Given the description of an element on the screen output the (x, y) to click on. 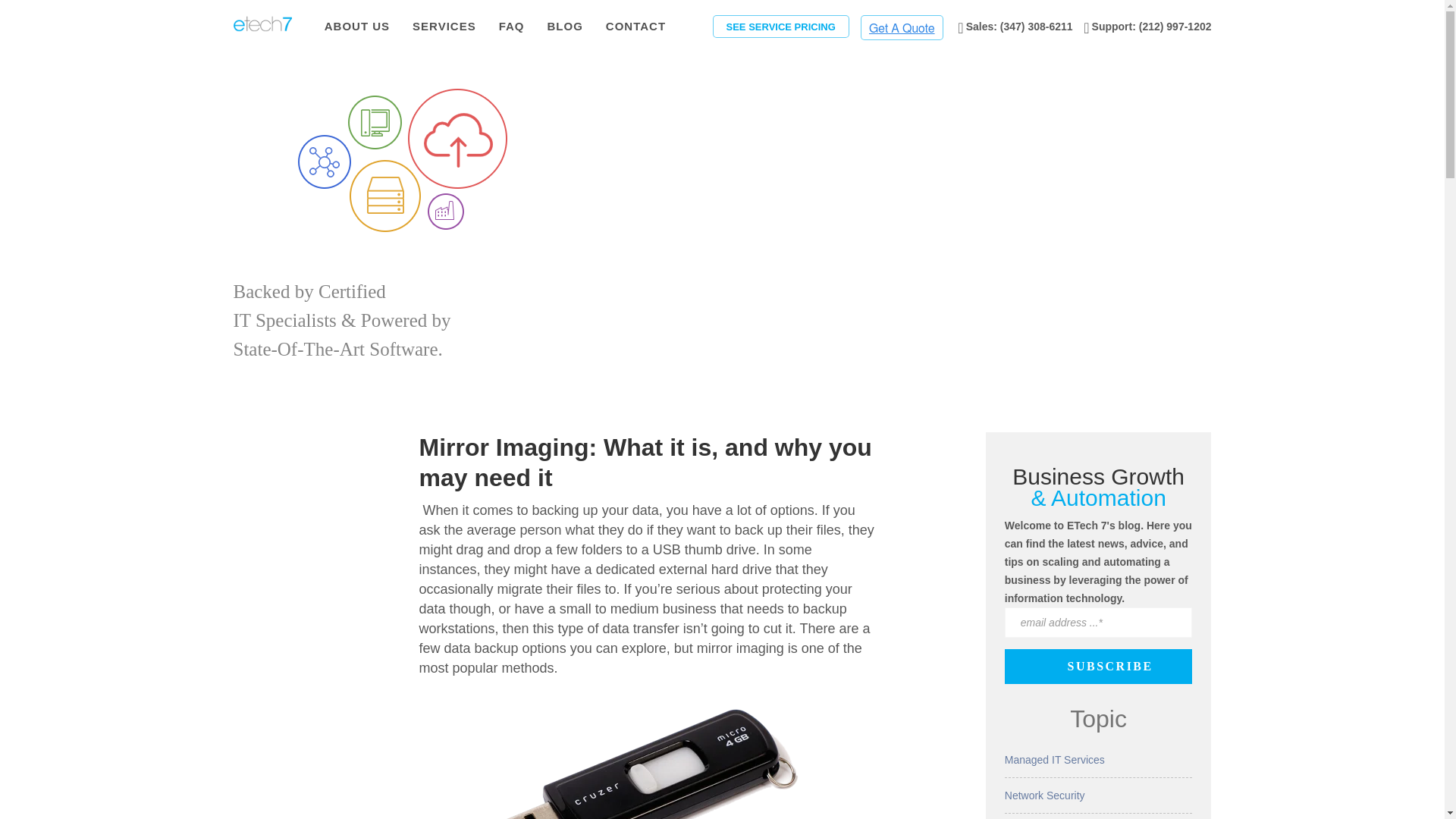
menu-img.png (402, 159)
SERVICES (443, 26)
BLOG (565, 26)
CONTACT (635, 26)
ABOUT US (357, 26)
ETech 7 Logo (262, 23)
Subscribe (1109, 666)
